Given the description of an element on the screen output the (x, y) to click on. 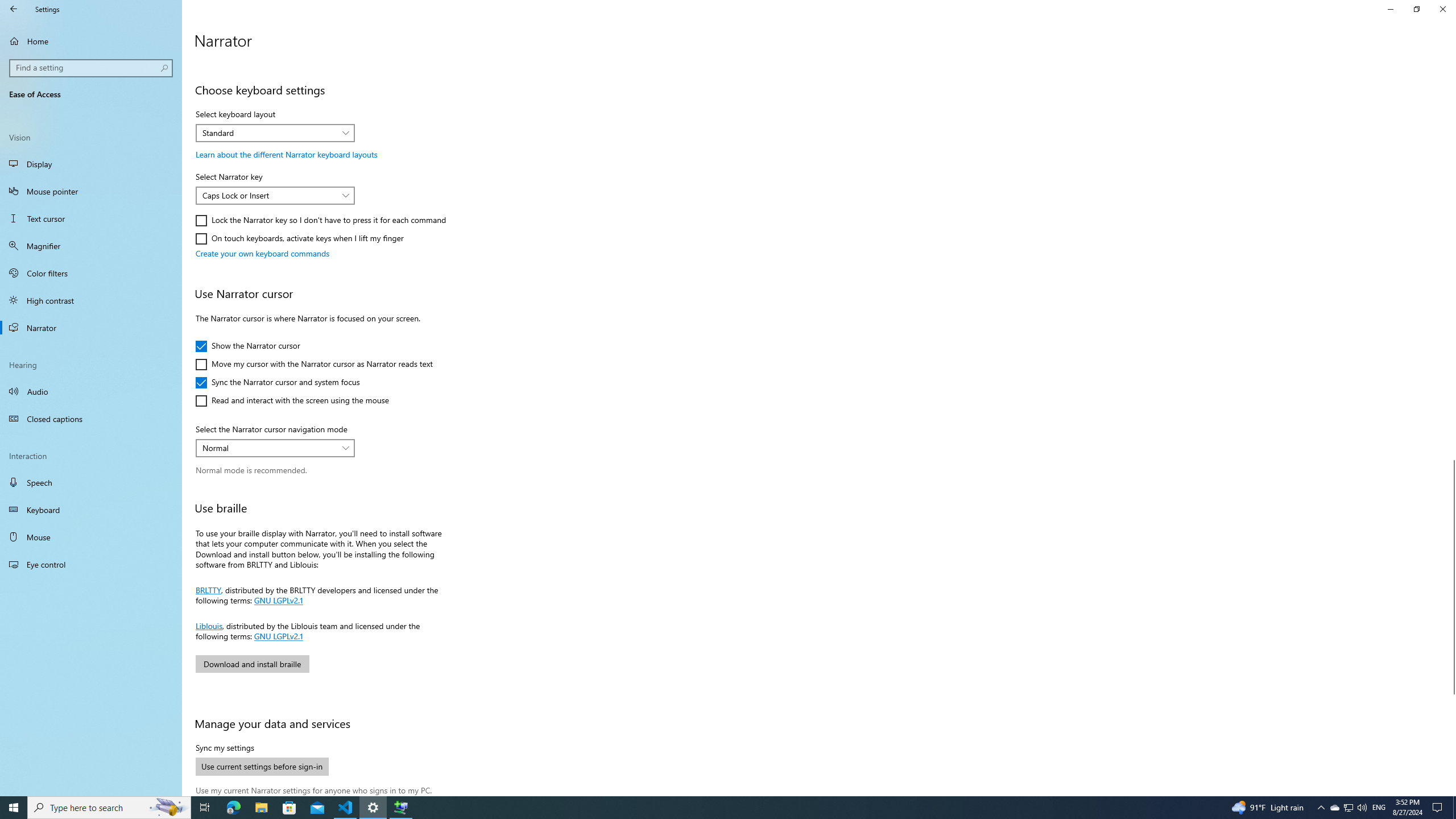
Use current settings before sign-in (262, 766)
Running applications (706, 807)
Liblouis (208, 624)
Start (1347, 807)
Hear arrow, Tab, and other navigation keys as you type (13, 807)
On touch keyboards, activate keys when I lift my finger (299, 7)
